Given the description of an element on the screen output the (x, y) to click on. 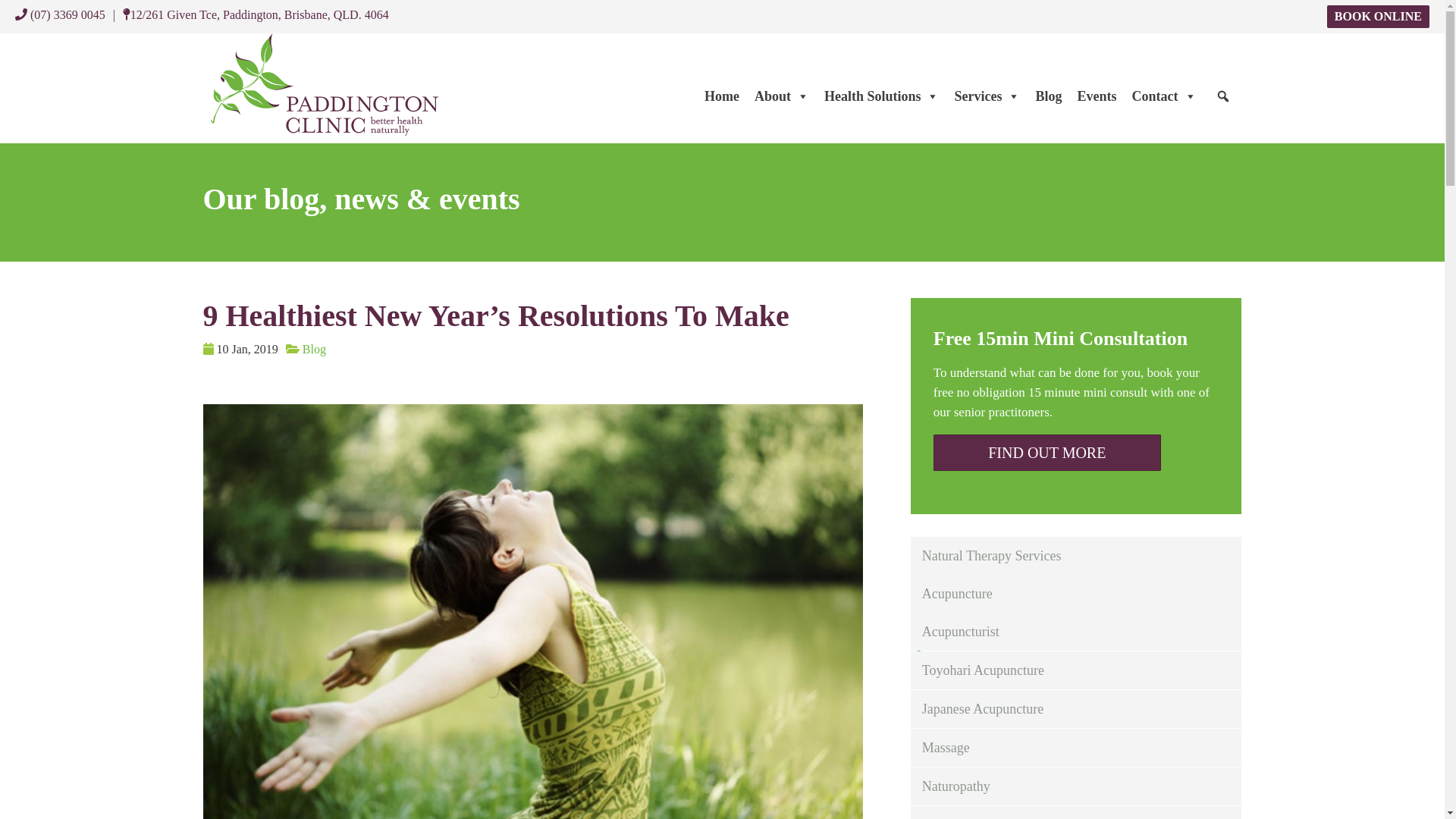
Services (986, 96)
Home (721, 96)
About Us (781, 96)
Health Solutions (881, 96)
About (781, 96)
Home (721, 96)
Paddington Clinic Natural Therapy Brisbane (324, 83)
Blog (1047, 96)
Our Services (986, 96)
Health Solutions (881, 96)
BOOK ONLINE (1377, 15)
